Given the description of an element on the screen output the (x, y) to click on. 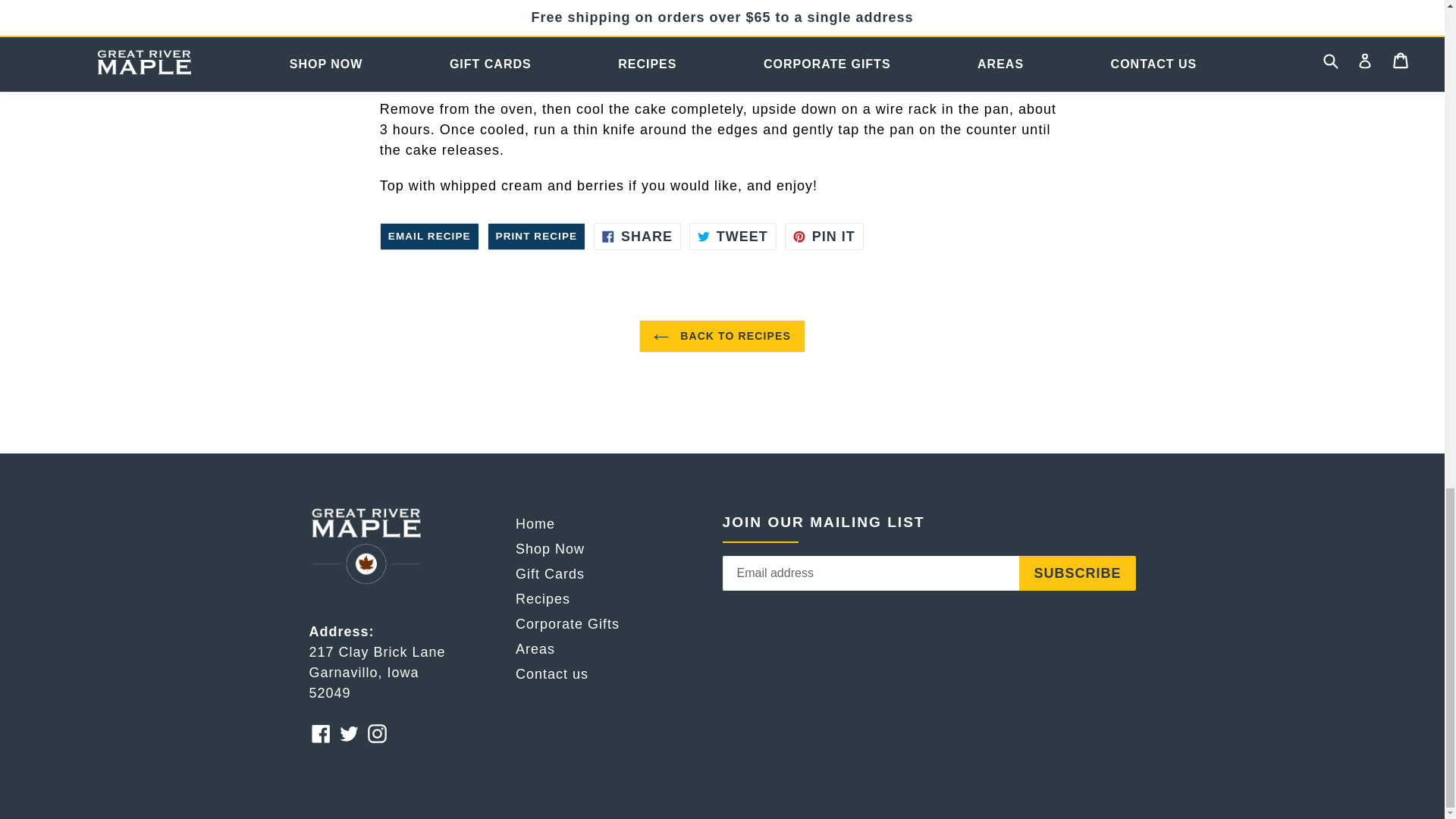
EMAIL RECIPE (429, 236)
BACK TO RECIPES (722, 336)
Great River Maple on Instagram (376, 732)
Instagram (376, 732)
Great River Maple on Twitter (637, 236)
PRINT RECIPE (349, 732)
Shop Now (536, 236)
Pin on Pinterest (550, 548)
Facebook (823, 236)
